Given the description of an element on the screen output the (x, y) to click on. 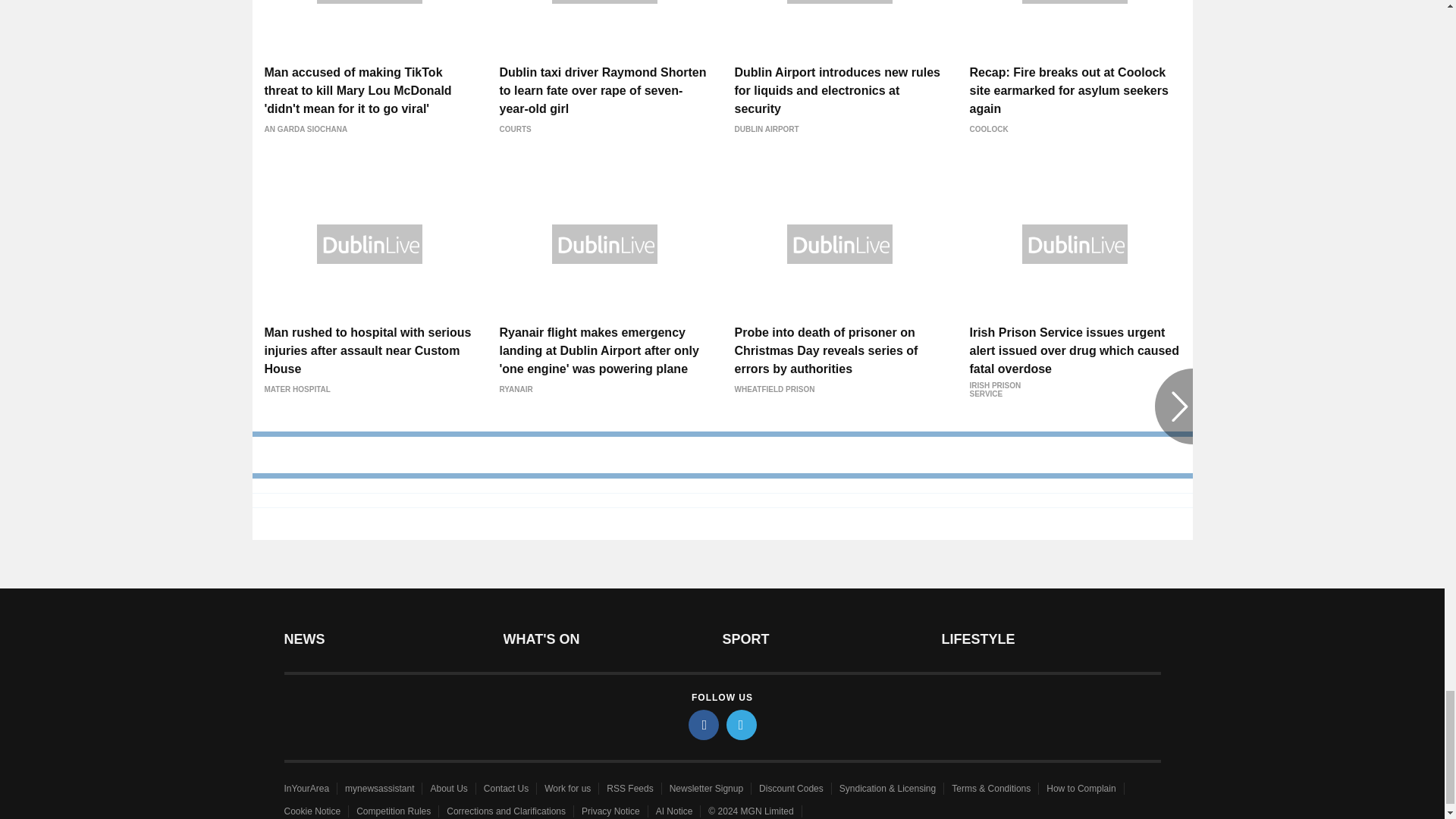
twitter (741, 725)
facebook (703, 725)
